Given the description of an element on the screen output the (x, y) to click on. 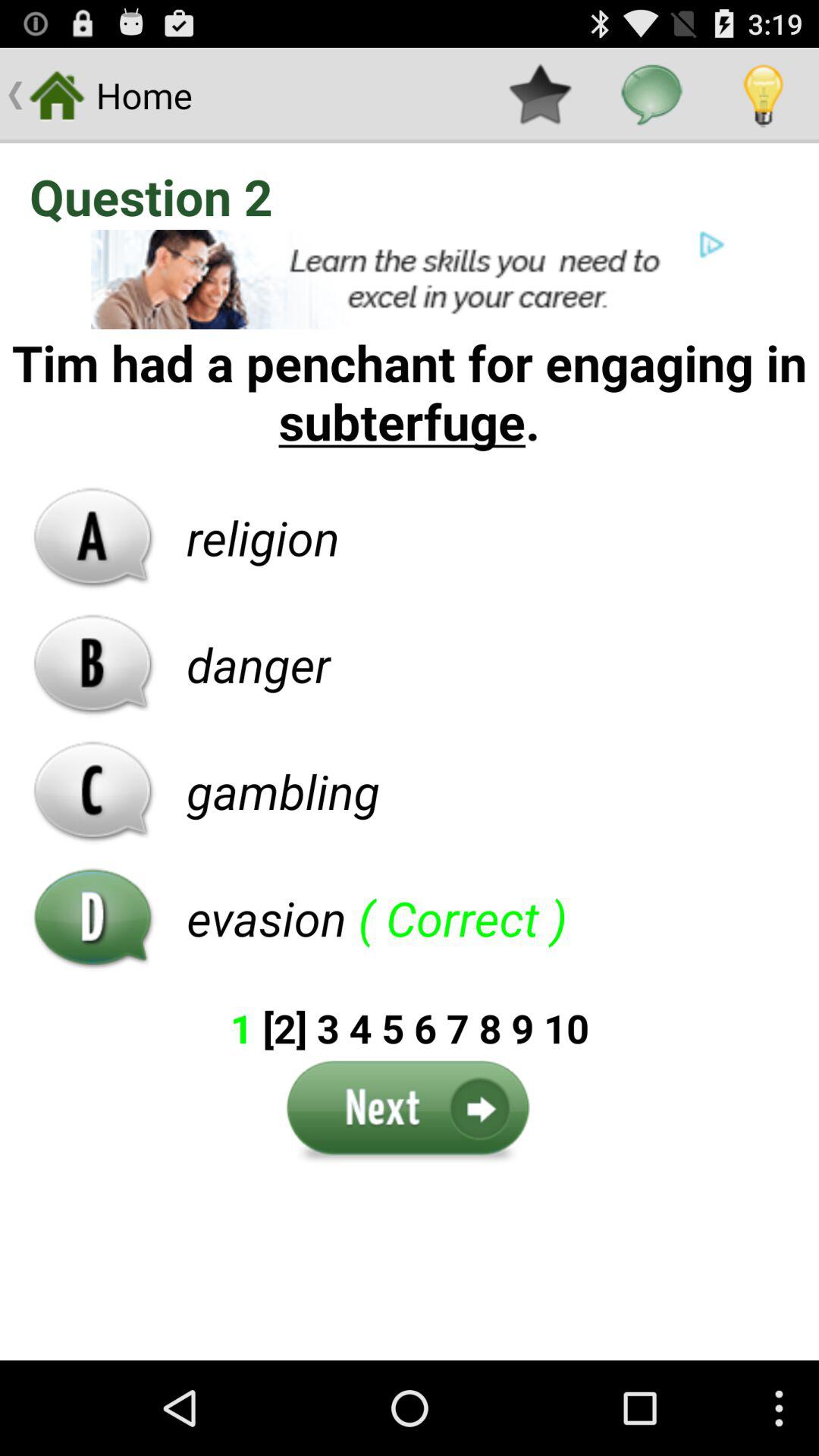
select app above the tim had a icon (409, 279)
